Given the description of an element on the screen output the (x, y) to click on. 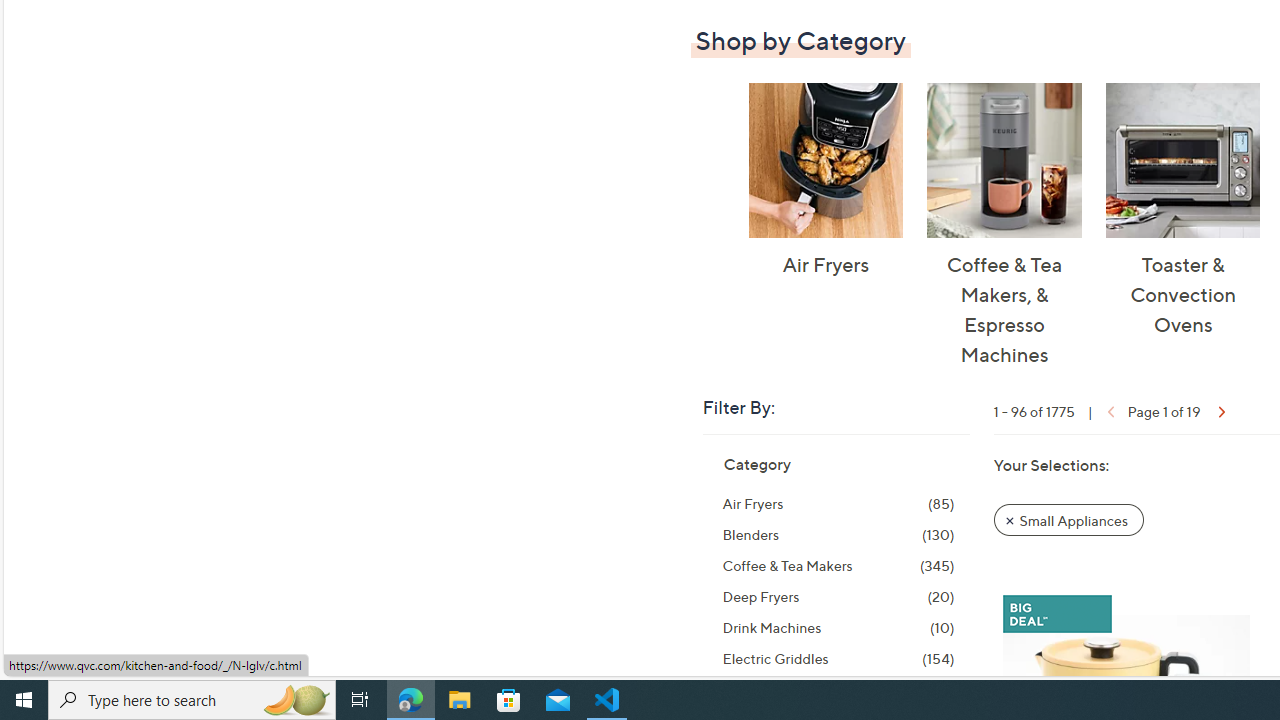
Deep Fryers, 20 items (837, 596)
Coffee & Tea Makers, & Espresso Machines (1003, 160)
Small Appliances (1069, 519)
Blenders, 130 items (837, 534)
Air Fryers (825, 160)
Previous Page (1108, 410)
Toaster & Convection Ovens (1182, 160)
Next Page (1219, 410)
Drink Machines, 10 items (837, 628)
Electric Griddles, 154 items (837, 659)
Air Fryers Air Fryers (825, 181)
Remove Filter: Small Appliances (1068, 520)
Toaster & Convection Ovens Toaster & Convection Ovens (1182, 210)
Air Fryers, 85 items (837, 503)
